Given the description of an element on the screen output the (x, y) to click on. 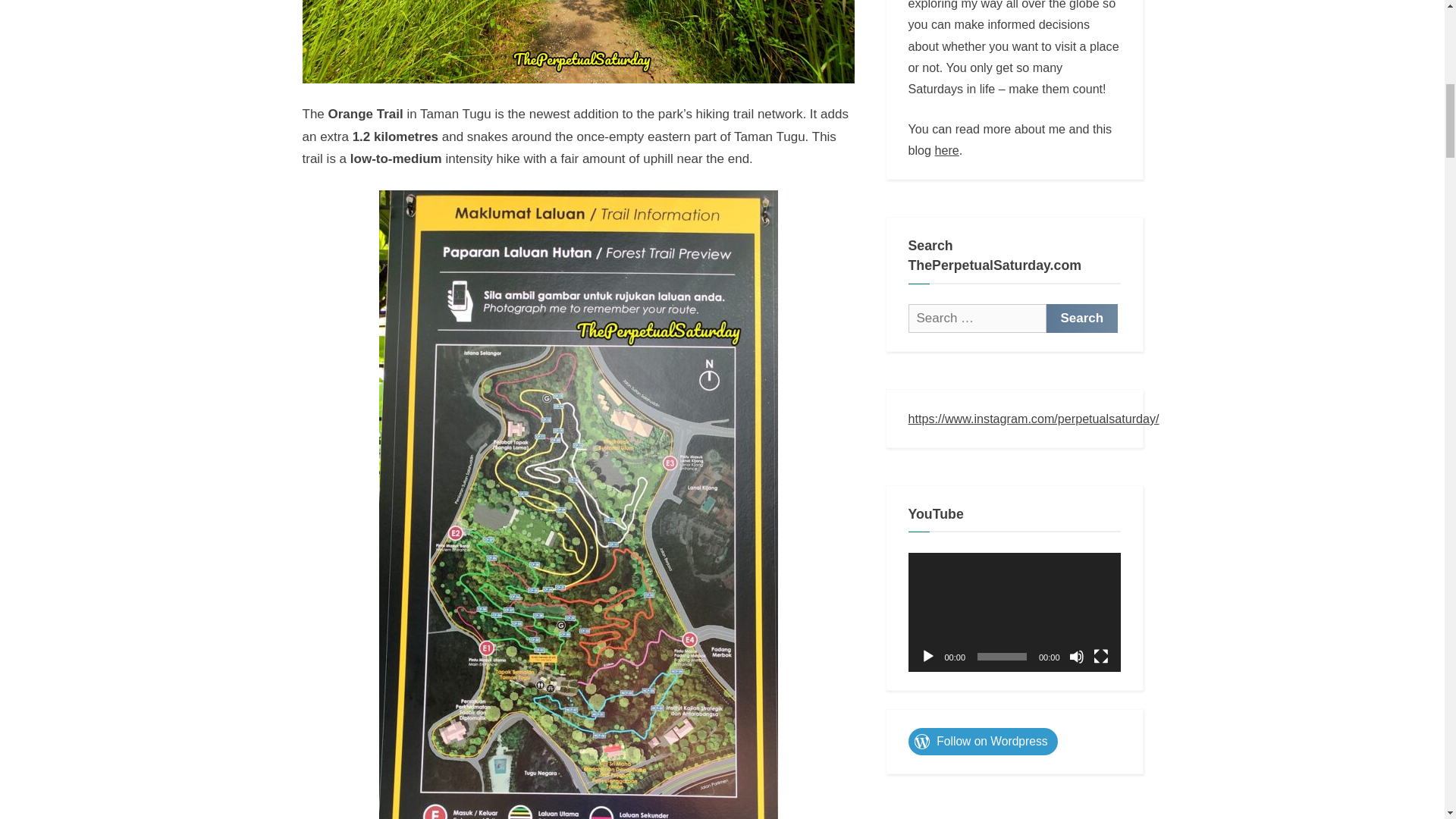
Mute (1076, 656)
Search (1082, 317)
Fullscreen (1100, 656)
Play (928, 656)
Search (1082, 317)
